Given the description of an element on the screen output the (x, y) to click on. 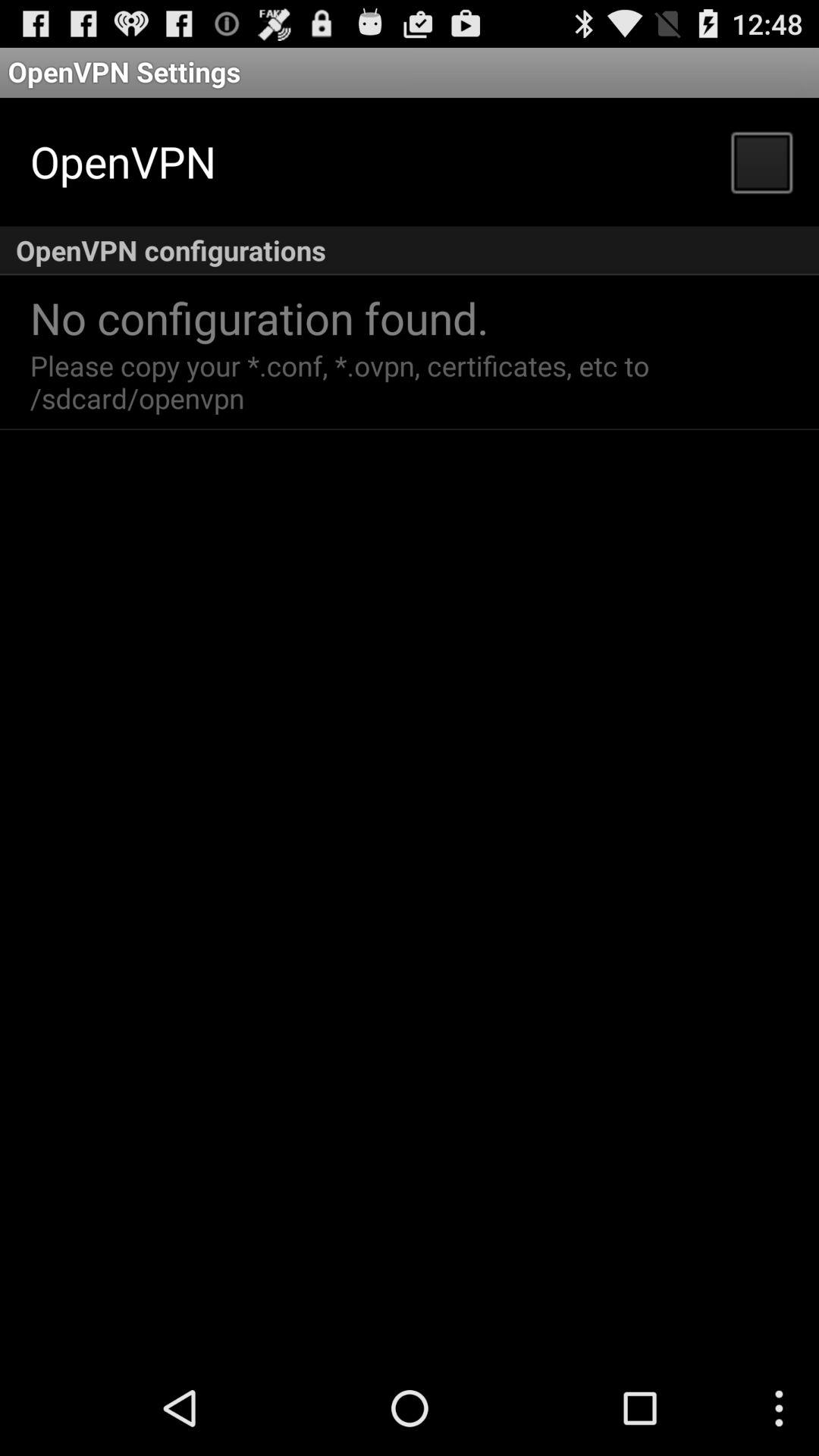
press the no configuration found. icon (259, 317)
